Given the description of an element on the screen output the (x, y) to click on. 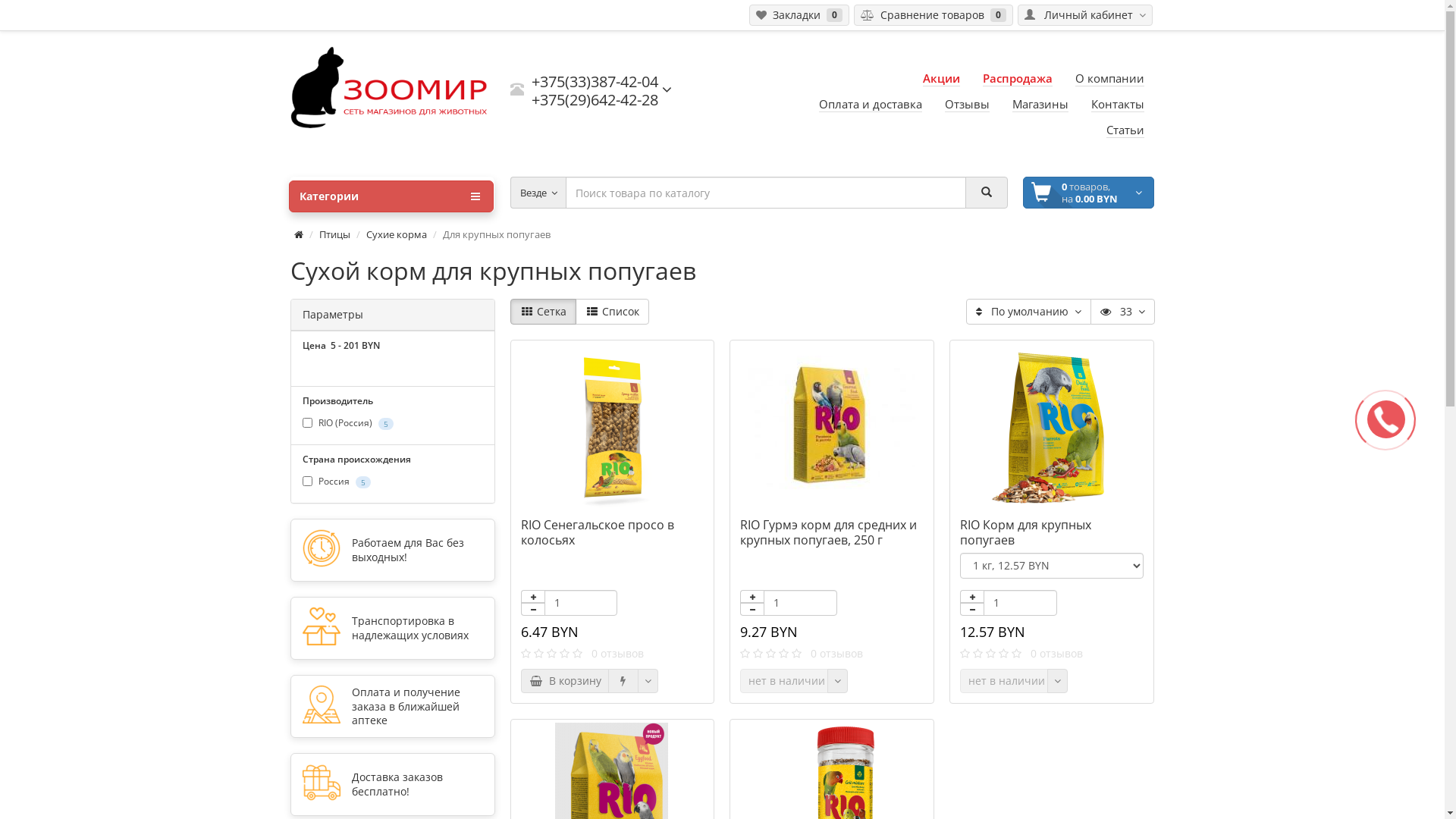
Zoo1 Element type: hover (391, 87)
   33   Element type: text (1122, 311)
